Given the description of an element on the screen output the (x, y) to click on. 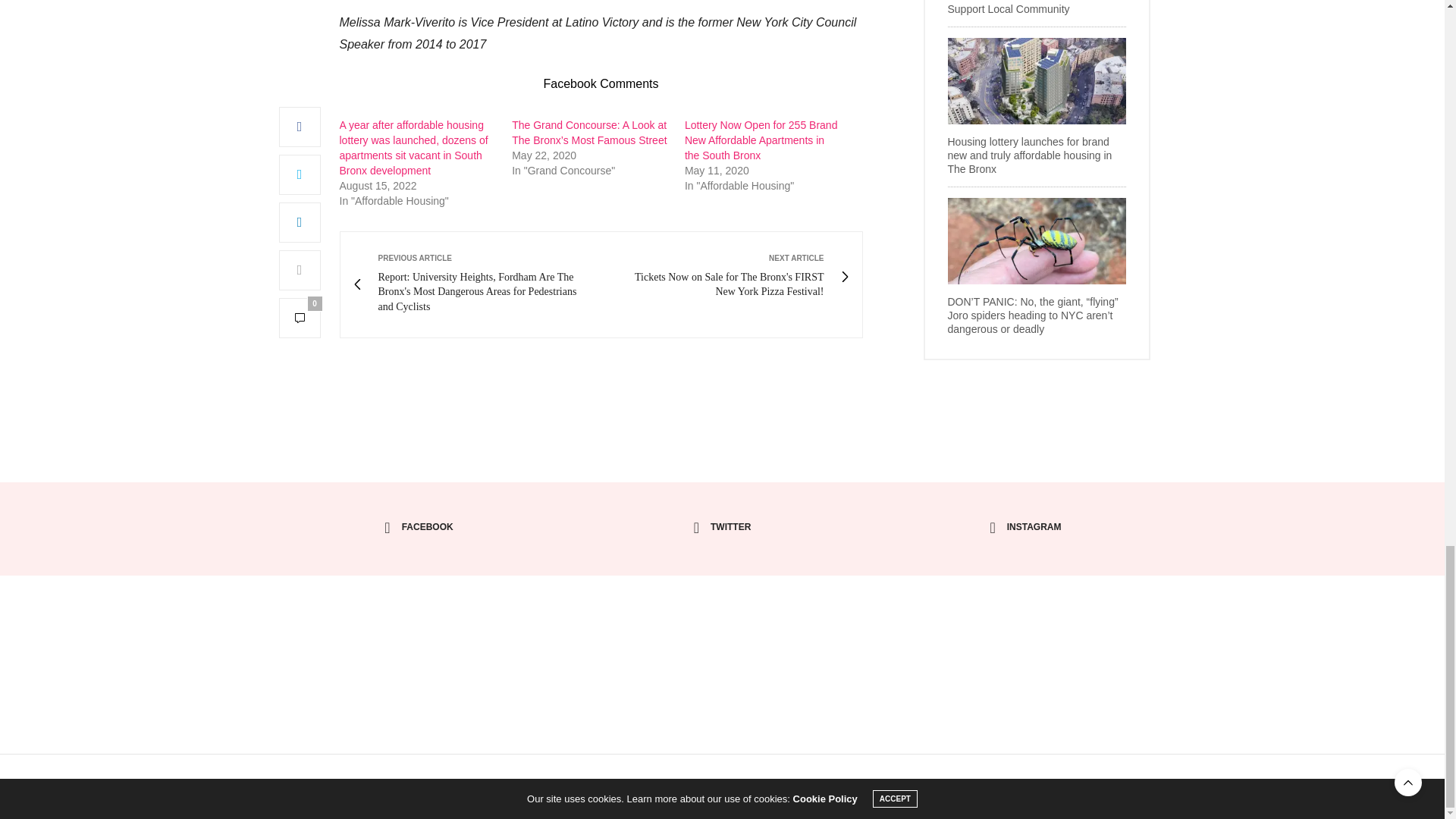
Welcome2TheBronx (722, 635)
